Given the description of an element on the screen output the (x, y) to click on. 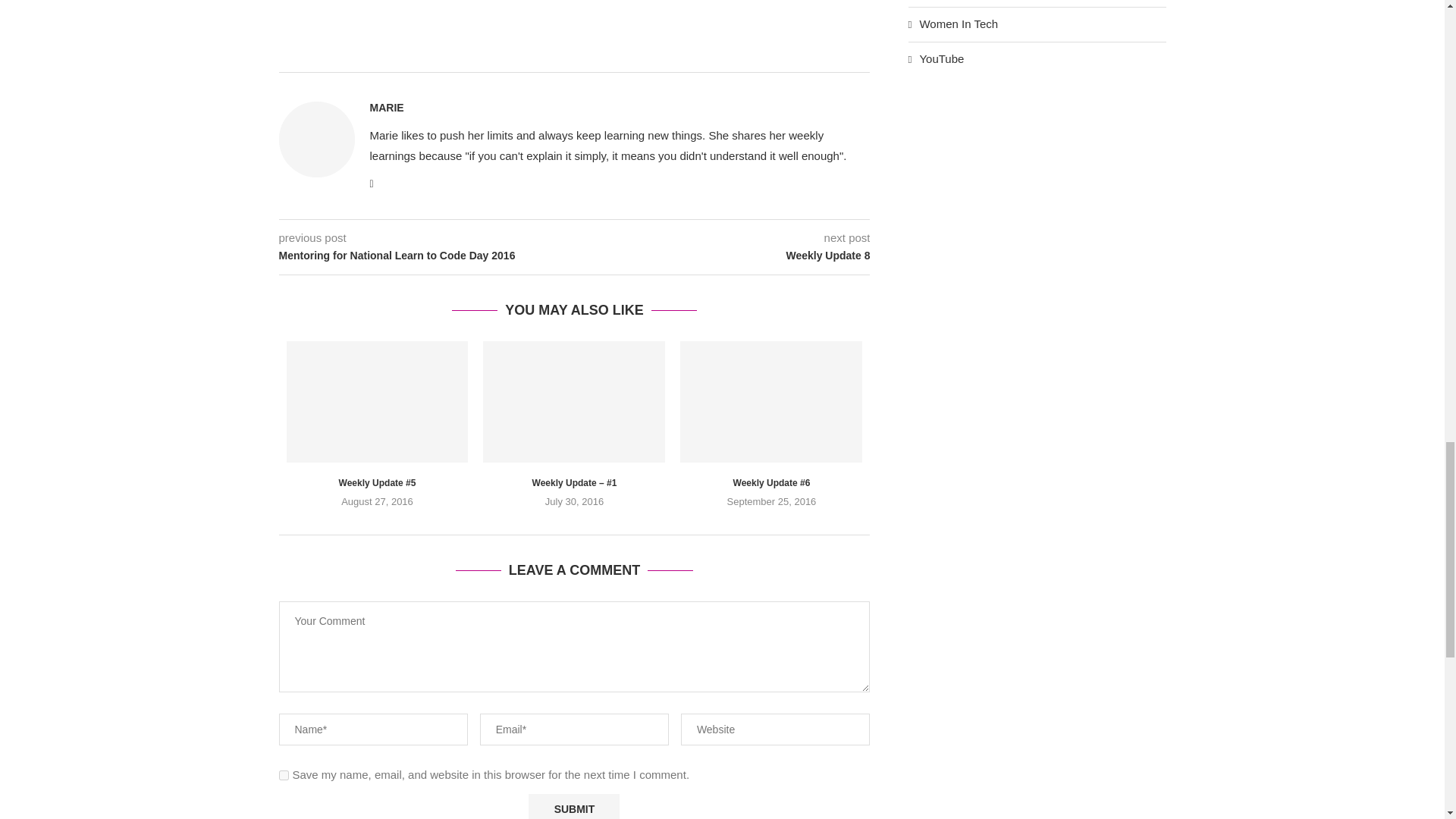
yes (283, 775)
Submit (574, 806)
